Given the description of an element on the screen output the (x, y) to click on. 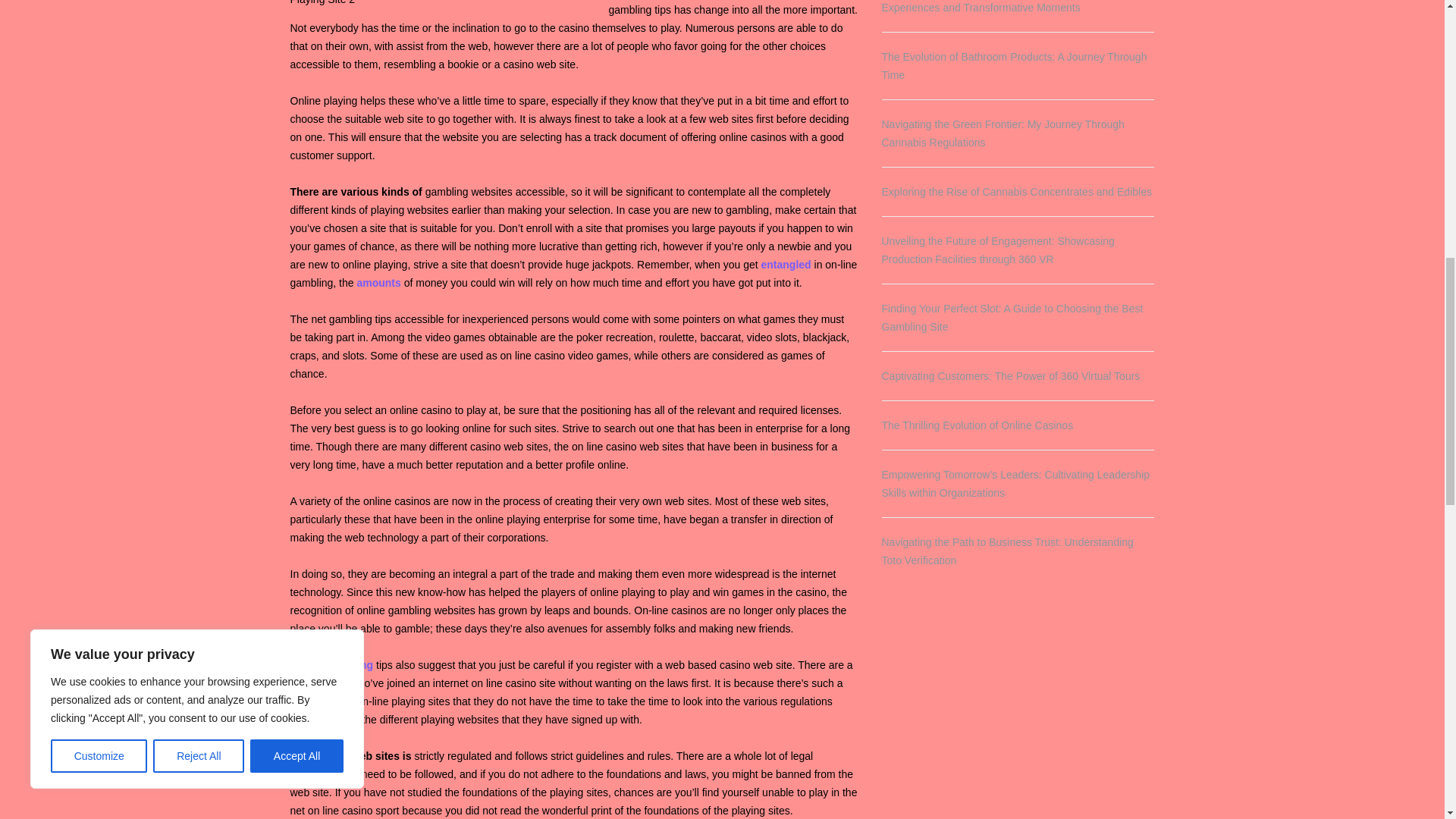
Online gambling (330, 664)
amounts (378, 282)
entangled (785, 264)
